Given the description of an element on the screen output the (x, y) to click on. 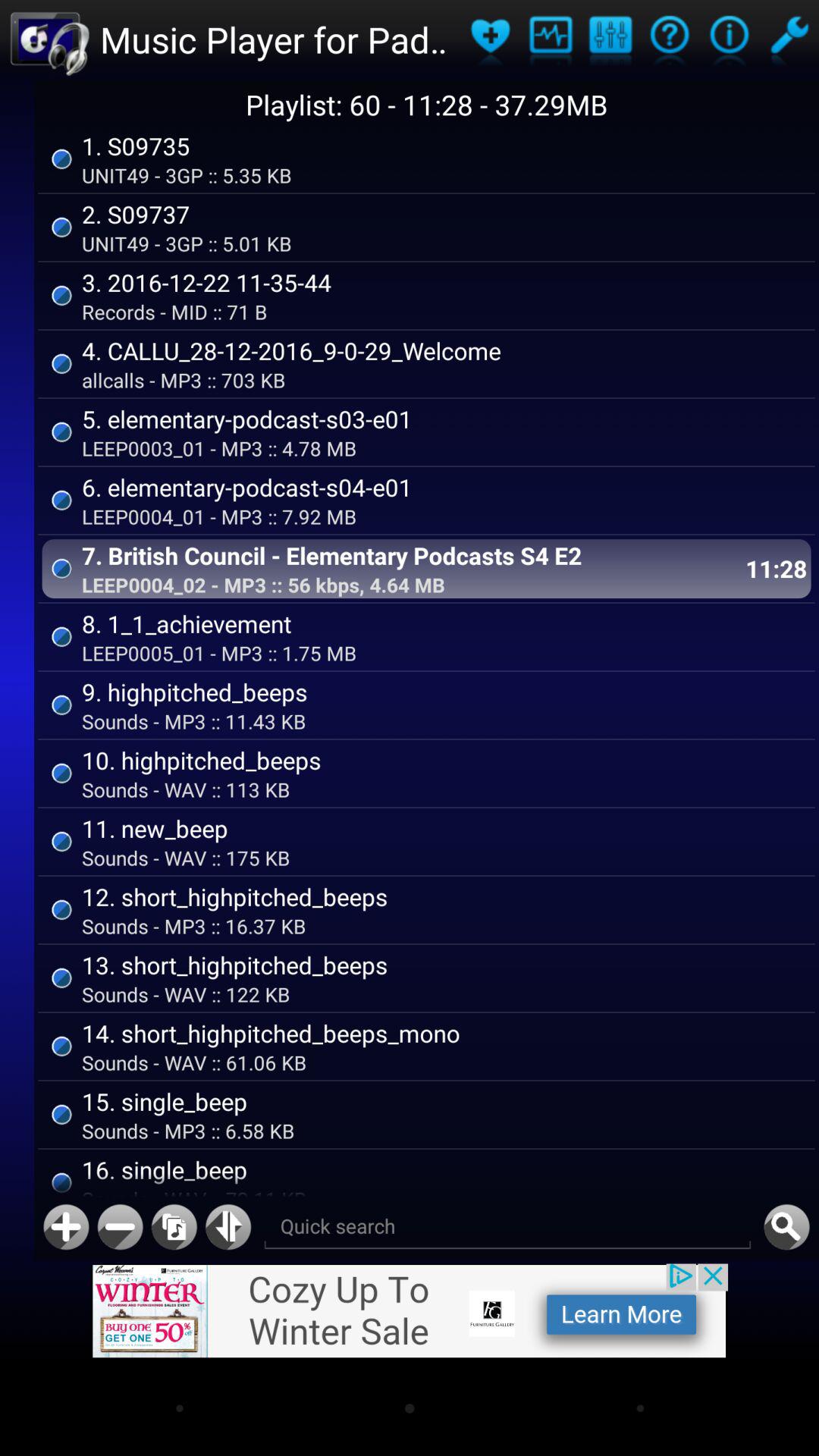
add a new track to playlist (66, 1226)
